Given the description of an element on the screen output the (x, y) to click on. 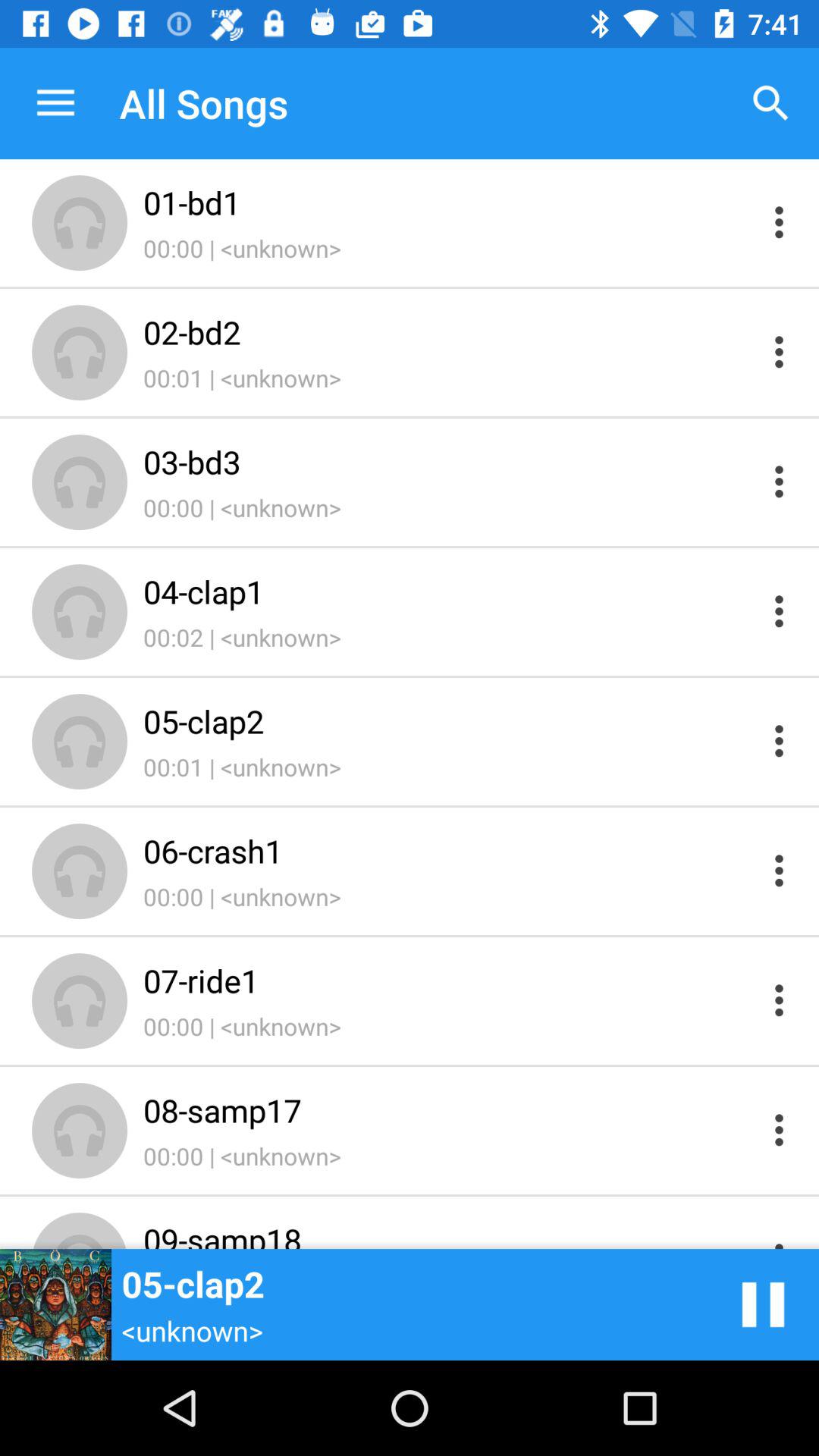
more options (779, 222)
